Given the description of an element on the screen output the (x, y) to click on. 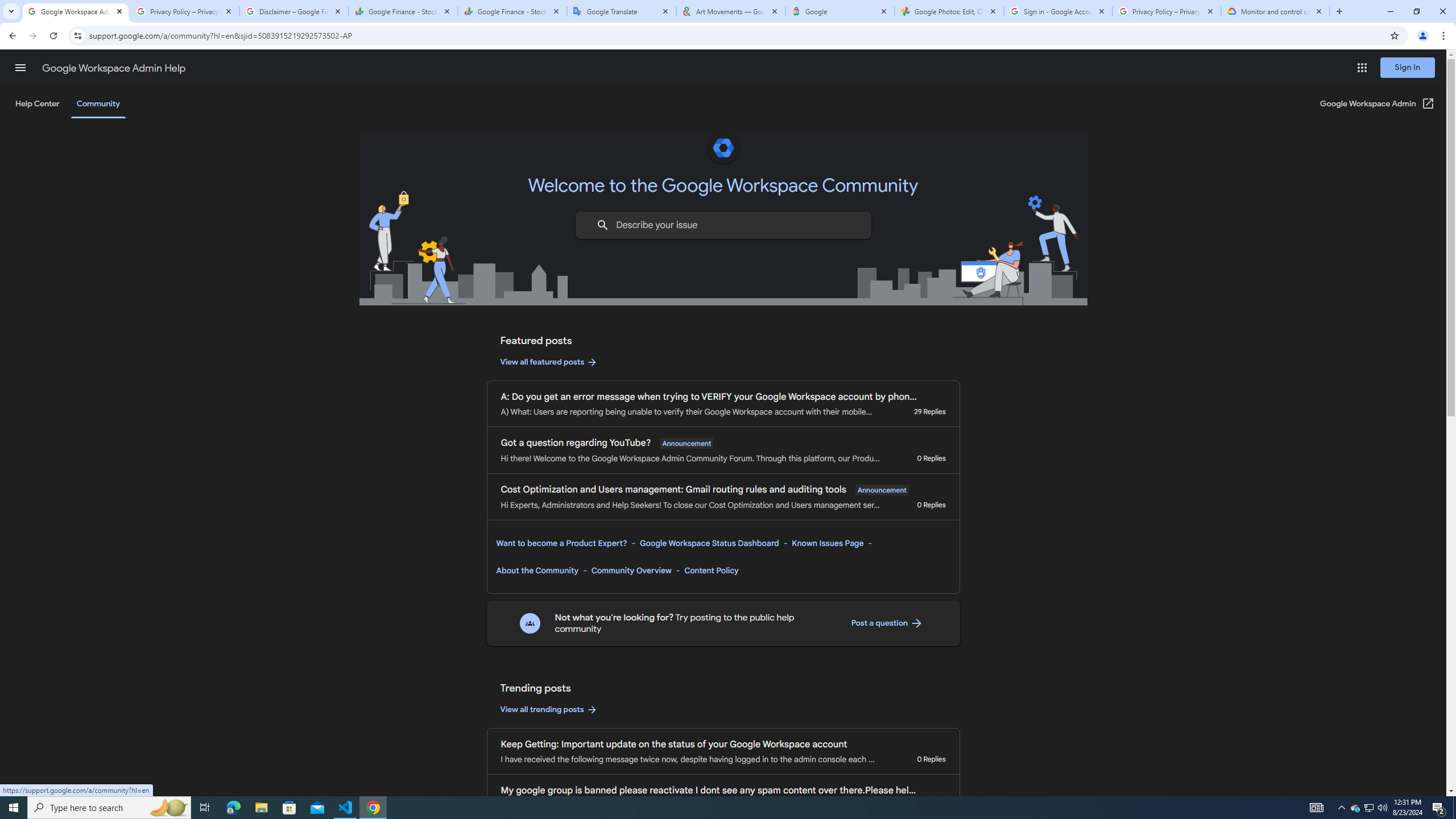
Post a question  (886, 623)
Help Center (36, 103)
View all trending posts (548, 709)
Google Workspace Status Dashboard (708, 542)
About the Community (537, 570)
Google Workspace Admin Community (75, 11)
Main menu (20, 67)
Google Workspace Admin Help (113, 68)
